Given the description of an element on the screen output the (x, y) to click on. 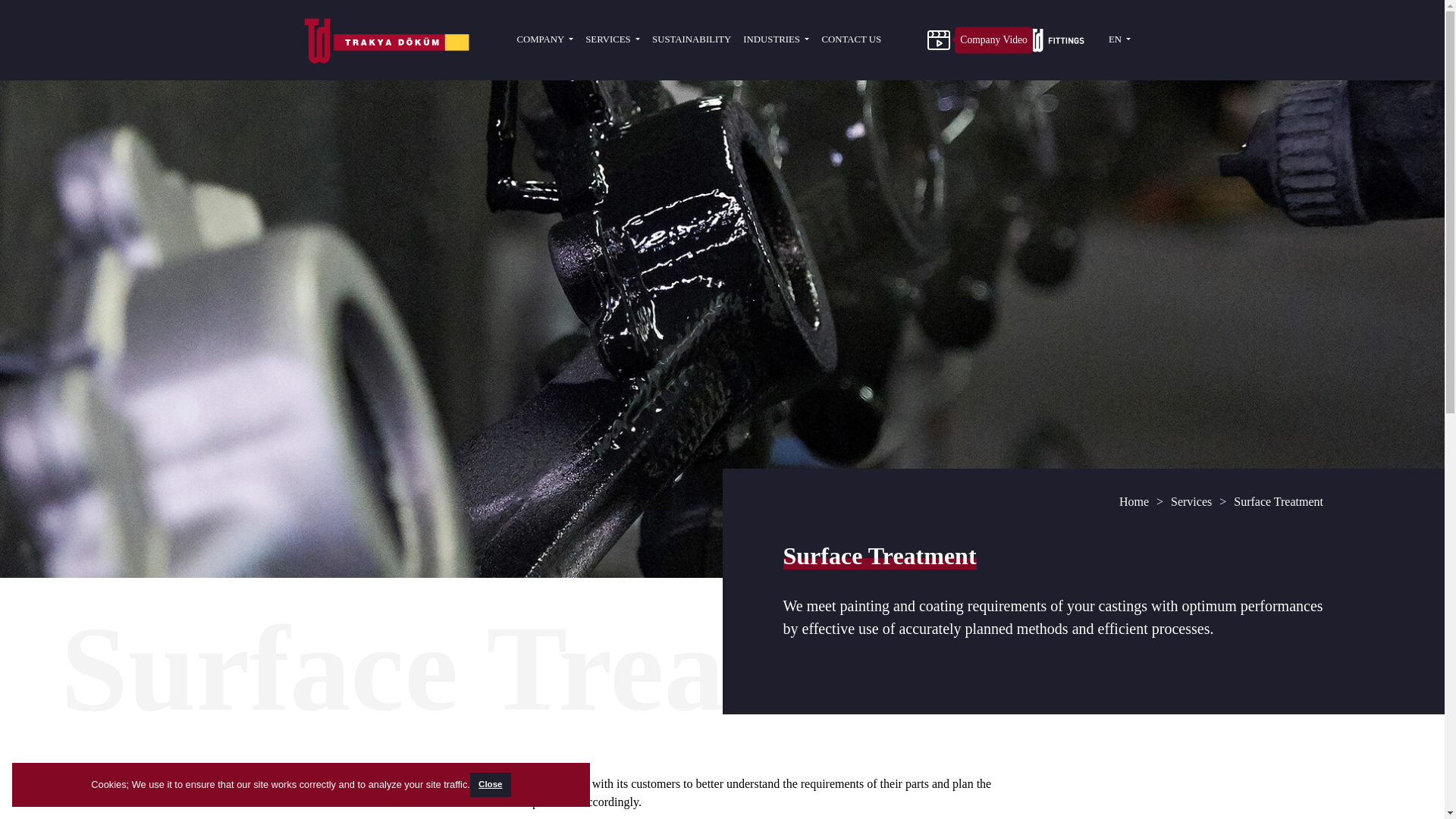
Company Video (938, 39)
INDUSTRIES (775, 39)
Close (490, 784)
EN (1119, 39)
COMPANY (545, 39)
SUSTAINABILITY (691, 39)
CONTACT US (850, 39)
SERVICES (612, 39)
